Given the description of an element on the screen output the (x, y) to click on. 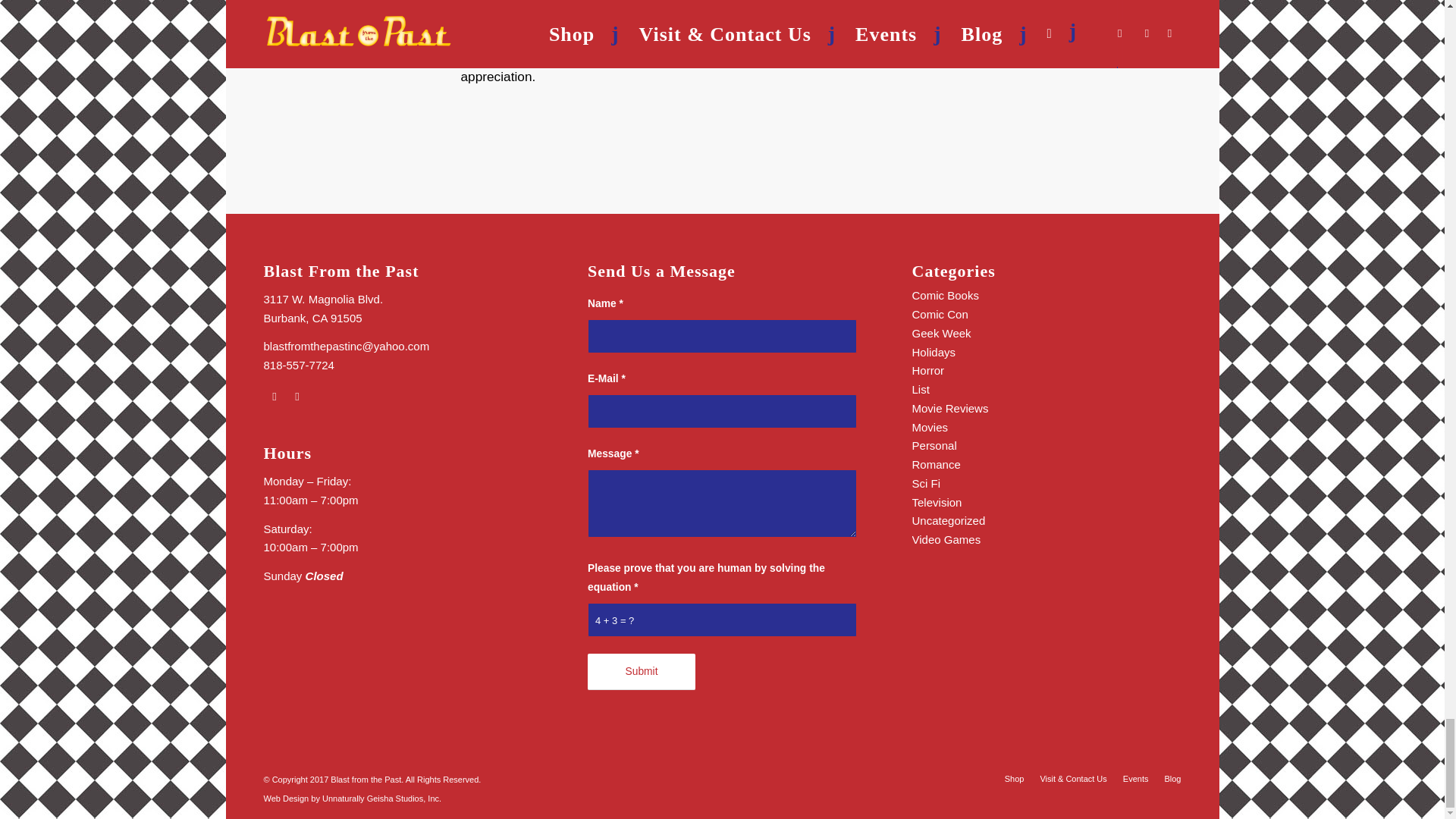
Submit (641, 671)
Holidays (934, 351)
Facebook (274, 395)
Comic Con (940, 314)
List (921, 389)
Horror (928, 369)
Instagram (297, 395)
Submit (641, 671)
Comic Books (945, 295)
Geek Week (941, 332)
